Given the description of an element on the screen output the (x, y) to click on. 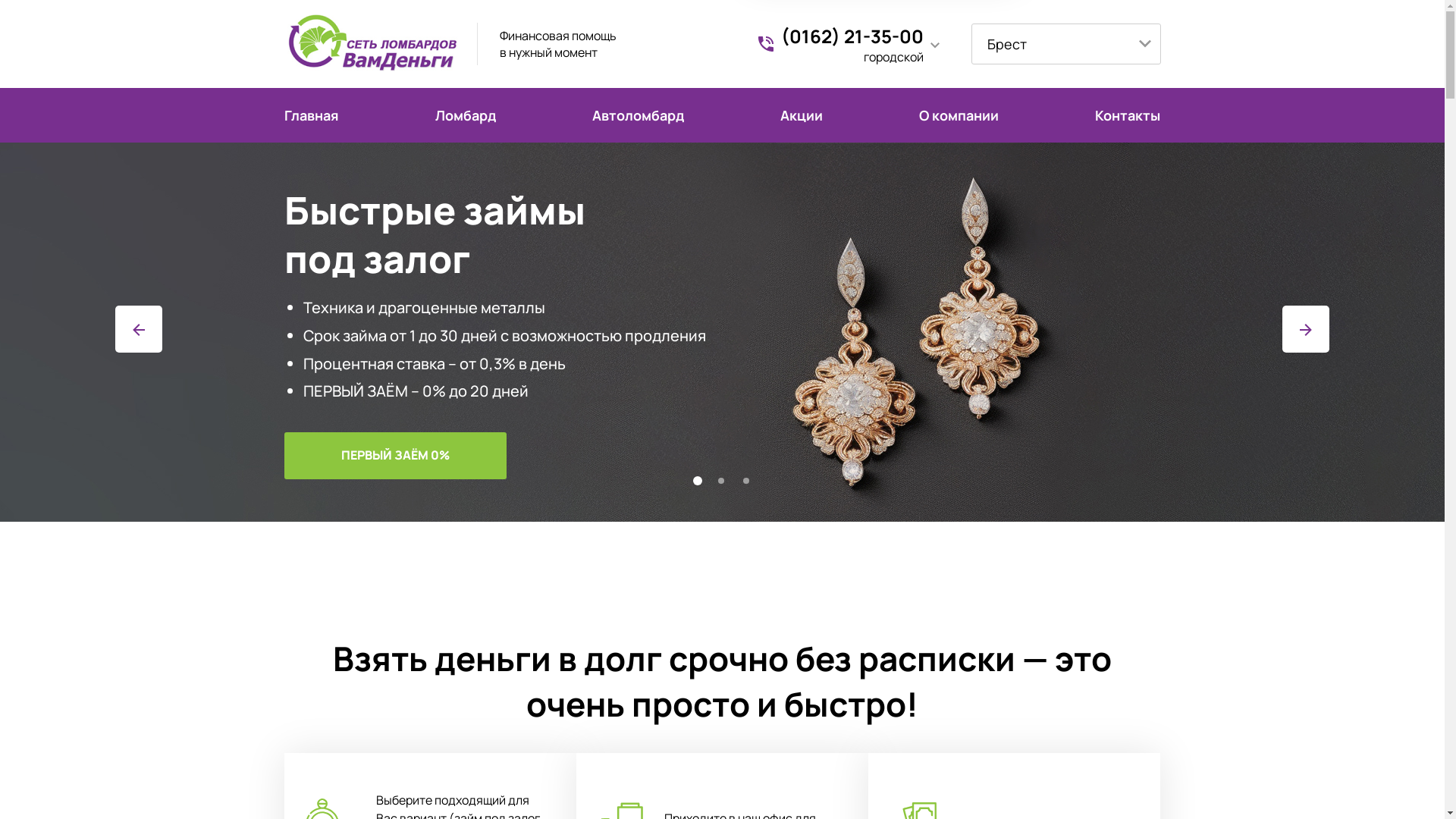
1 Element type: text (700, 483)
2 Element type: text (725, 483)
(0162) 21-35-00 Element type: text (852, 34)
3 Element type: text (750, 483)
